Given the description of an element on the screen output the (x, y) to click on. 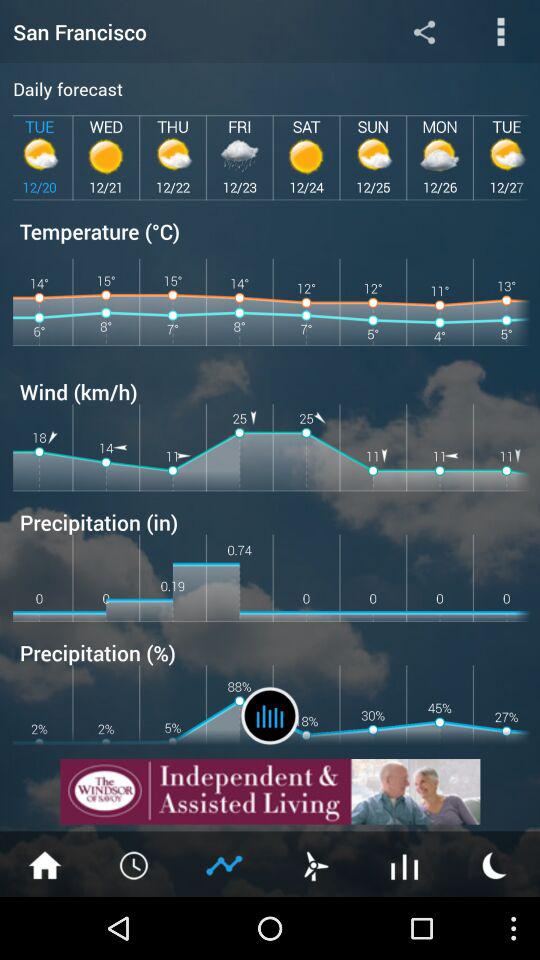
clock (135, 864)
